Given the description of an element on the screen output the (x, y) to click on. 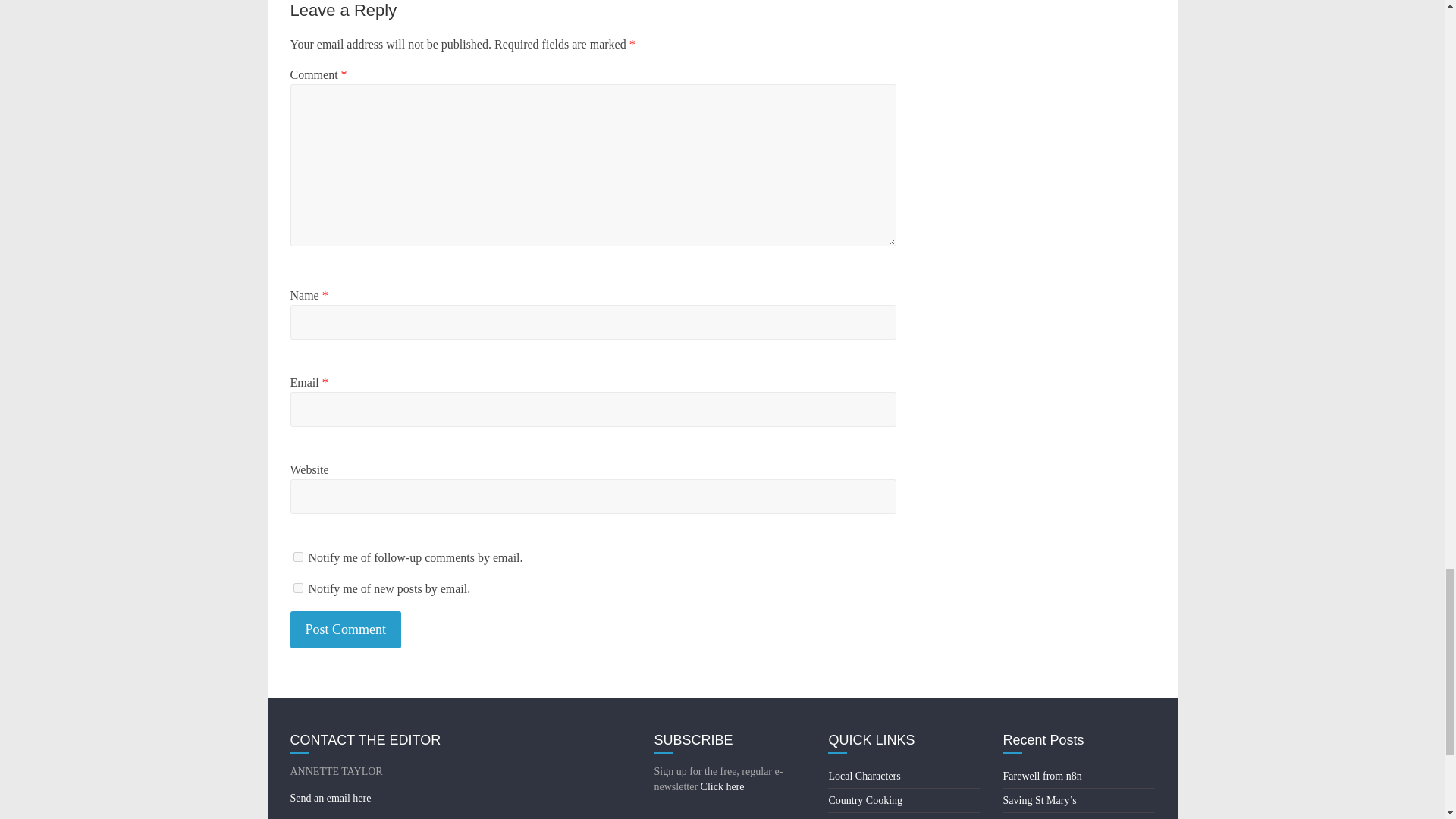
Post Comment (345, 629)
subscribe (297, 587)
subscribe (297, 556)
